Given the description of an element on the screen output the (x, y) to click on. 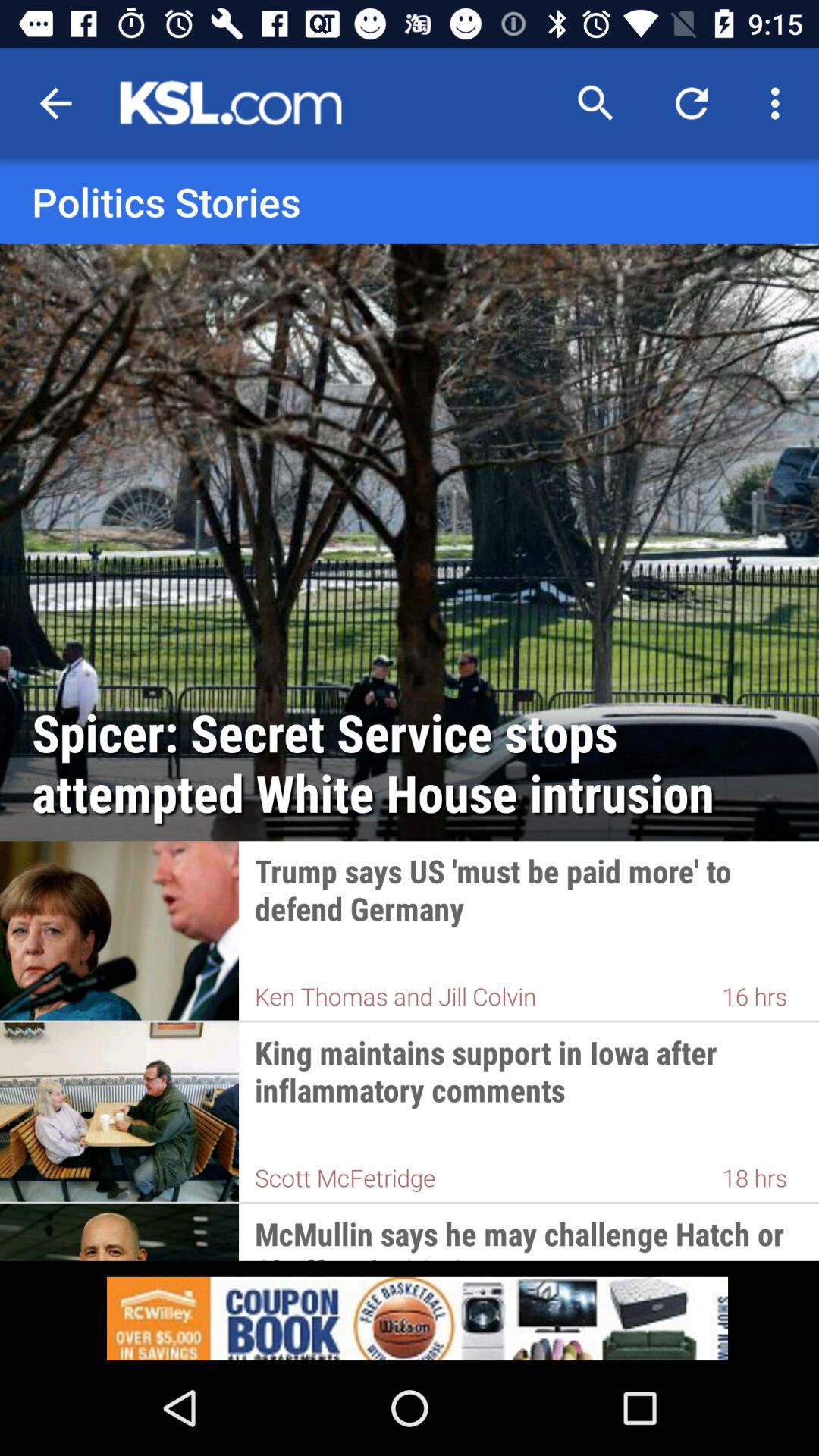
go to advertisement (409, 1310)
